Given the description of an element on the screen output the (x, y) to click on. 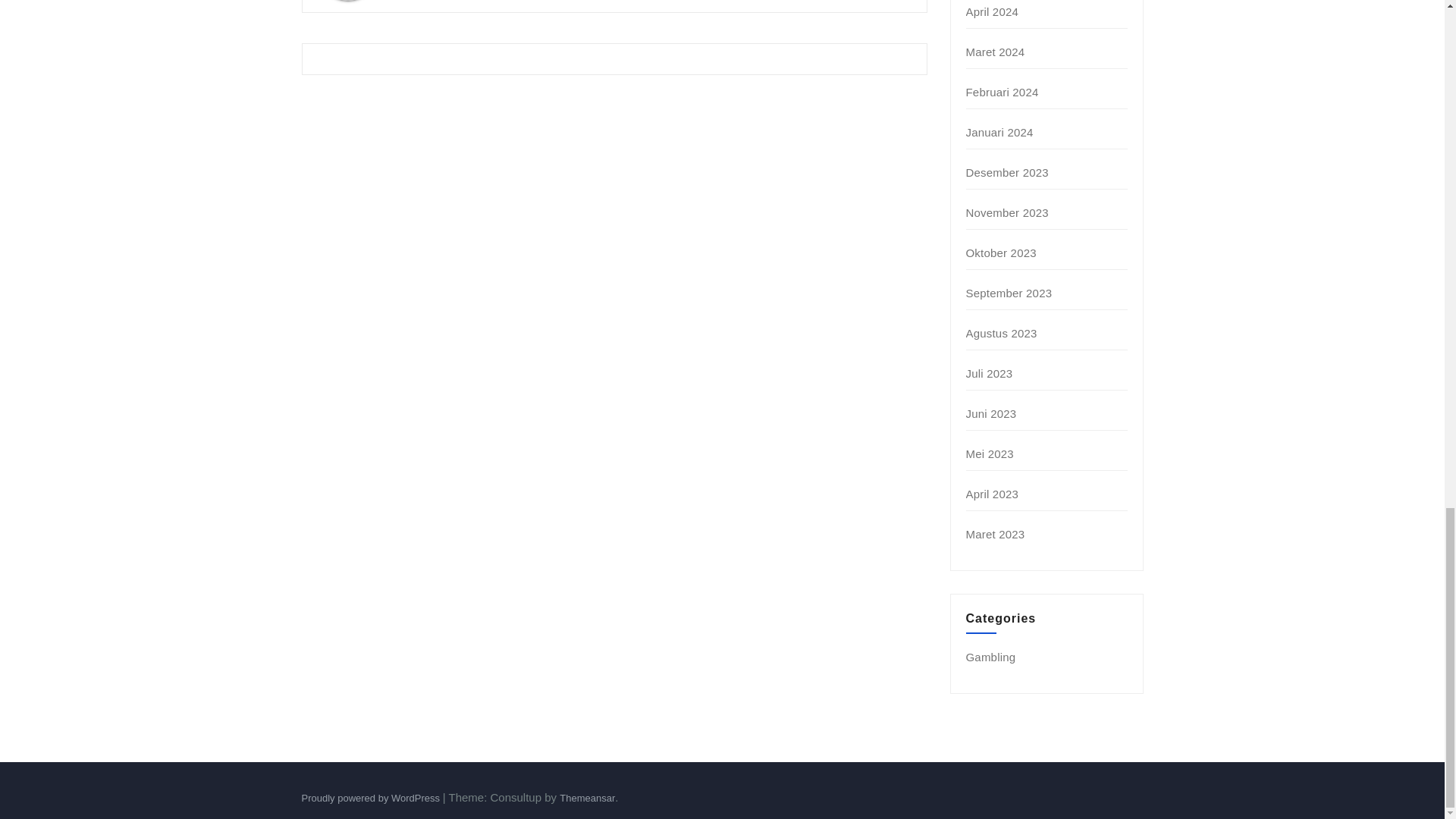
Januari 2024 (999, 132)
April 2024 (992, 11)
September 2023 (1009, 292)
April 2023 (992, 493)
Juli 2023 (989, 373)
Februari 2024 (1002, 91)
Proudly powered by WordPress (371, 797)
Maret 2024 (995, 51)
Agustus 2023 (1001, 332)
Mei 2023 (989, 453)
